Given the description of an element on the screen output the (x, y) to click on. 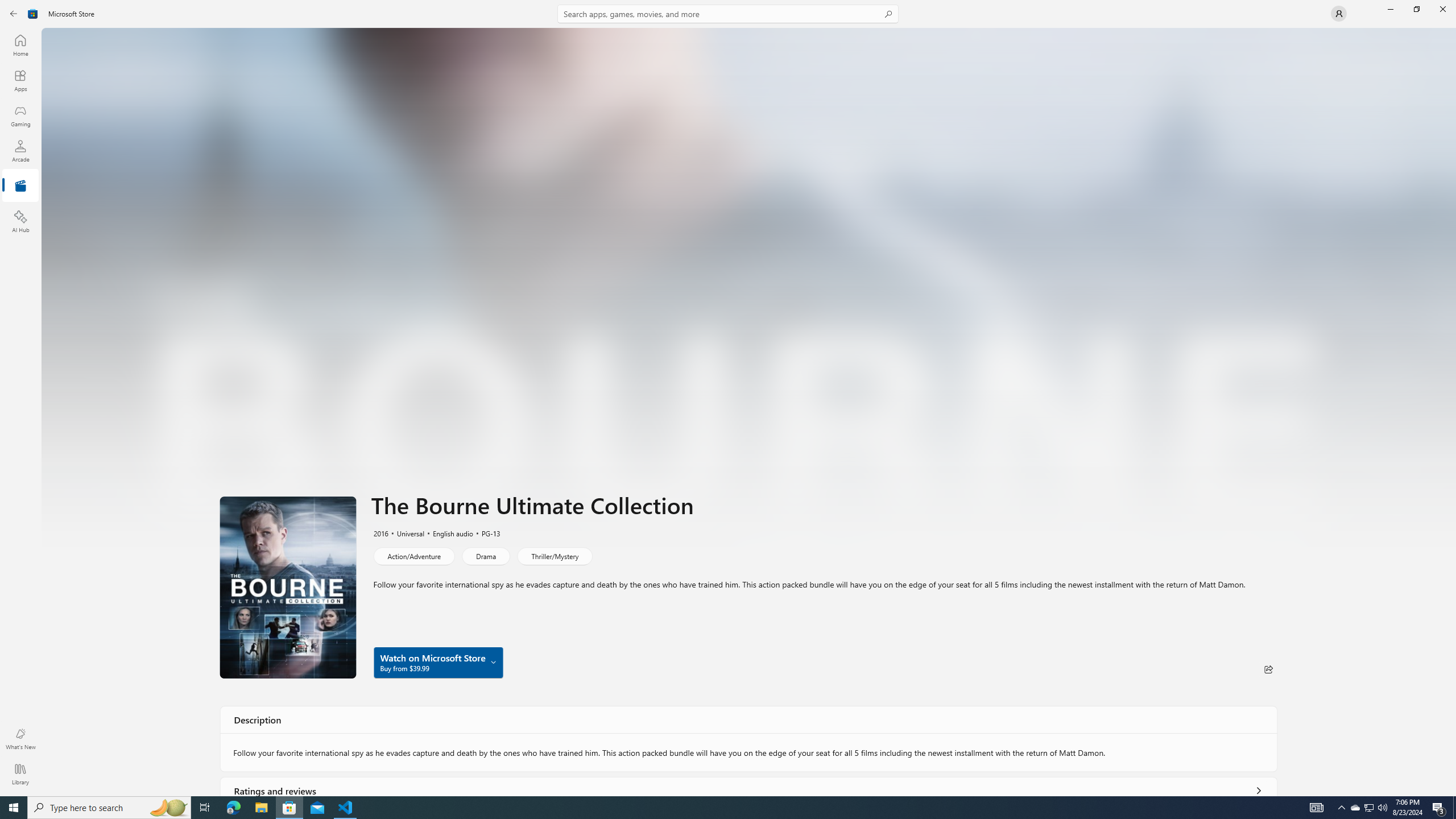
Share (1267, 669)
Home (20, 45)
AutomationID: NavigationControl (728, 398)
Drama (485, 556)
PG-13 (486, 533)
Search (727, 13)
Universal (405, 533)
Entertainment (20, 185)
Library (20, 773)
2016 (379, 533)
Action/Adventure (413, 556)
Restore Microsoft Store (1416, 9)
Show all ratings and reviews (1258, 788)
What's New (20, 738)
Minimize Microsoft Store (1390, 9)
